Given the description of an element on the screen output the (x, y) to click on. 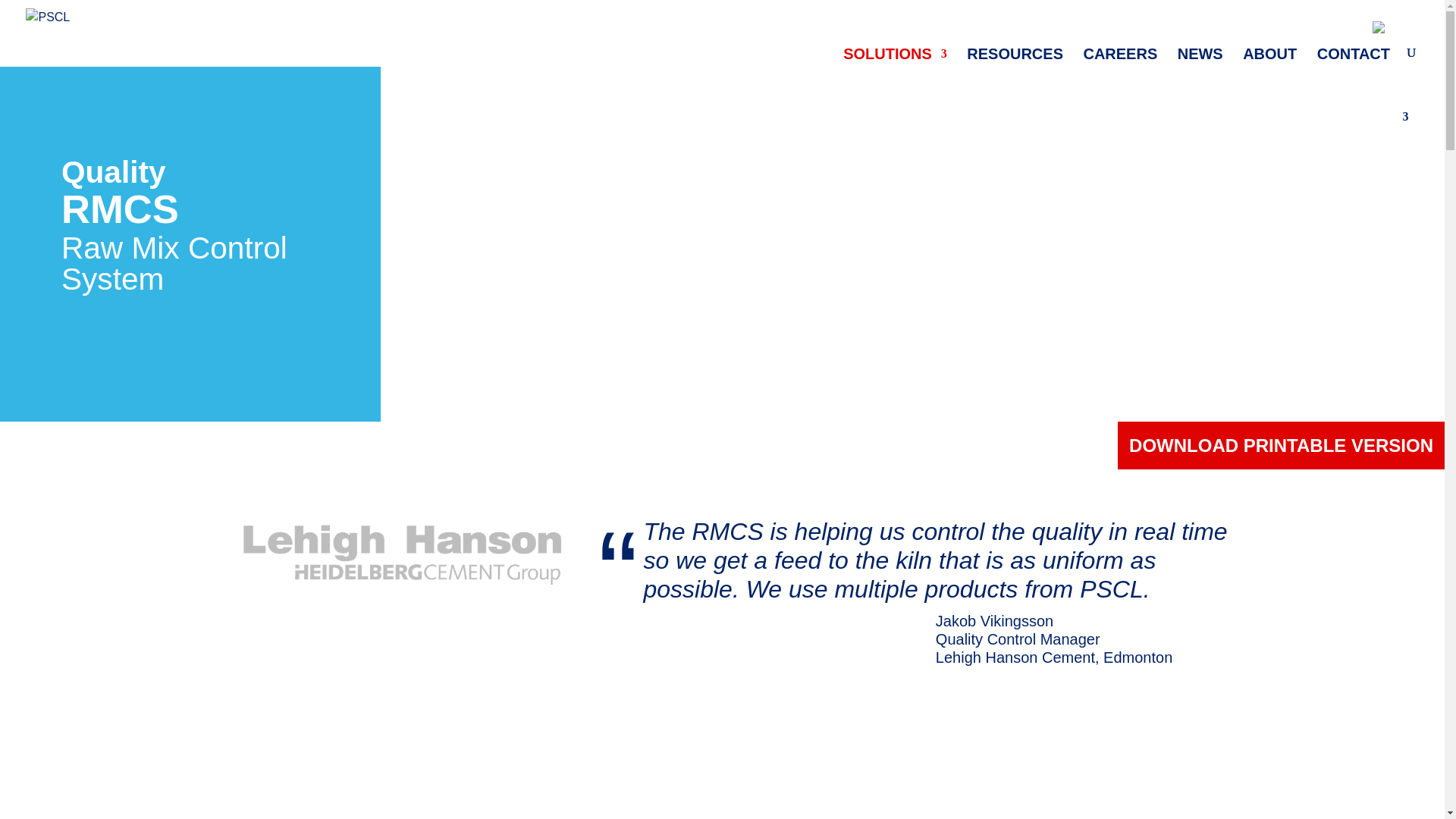
SOLUTIONS (895, 57)
ABOUT (1270, 57)
CONTACT (1353, 57)
RESOURCES (1014, 57)
CAREERS (1120, 57)
NEWS (1200, 57)
